Given the description of an element on the screen output the (x, y) to click on. 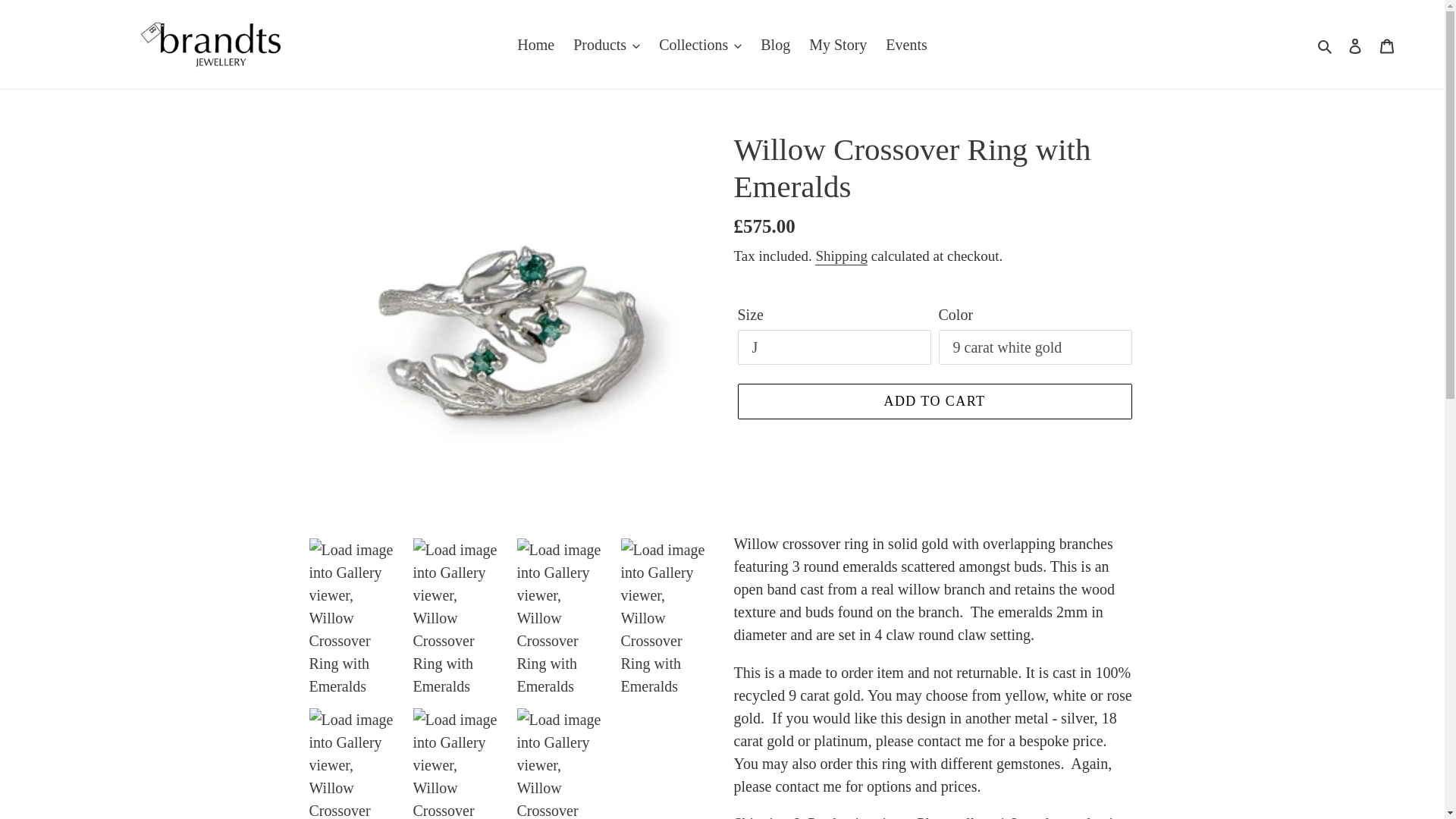
Collections (699, 44)
My Story (838, 44)
Blog (774, 44)
Home (535, 44)
Products (606, 44)
Events (905, 44)
Search (1326, 44)
